Given the description of an element on the screen output the (x, y) to click on. 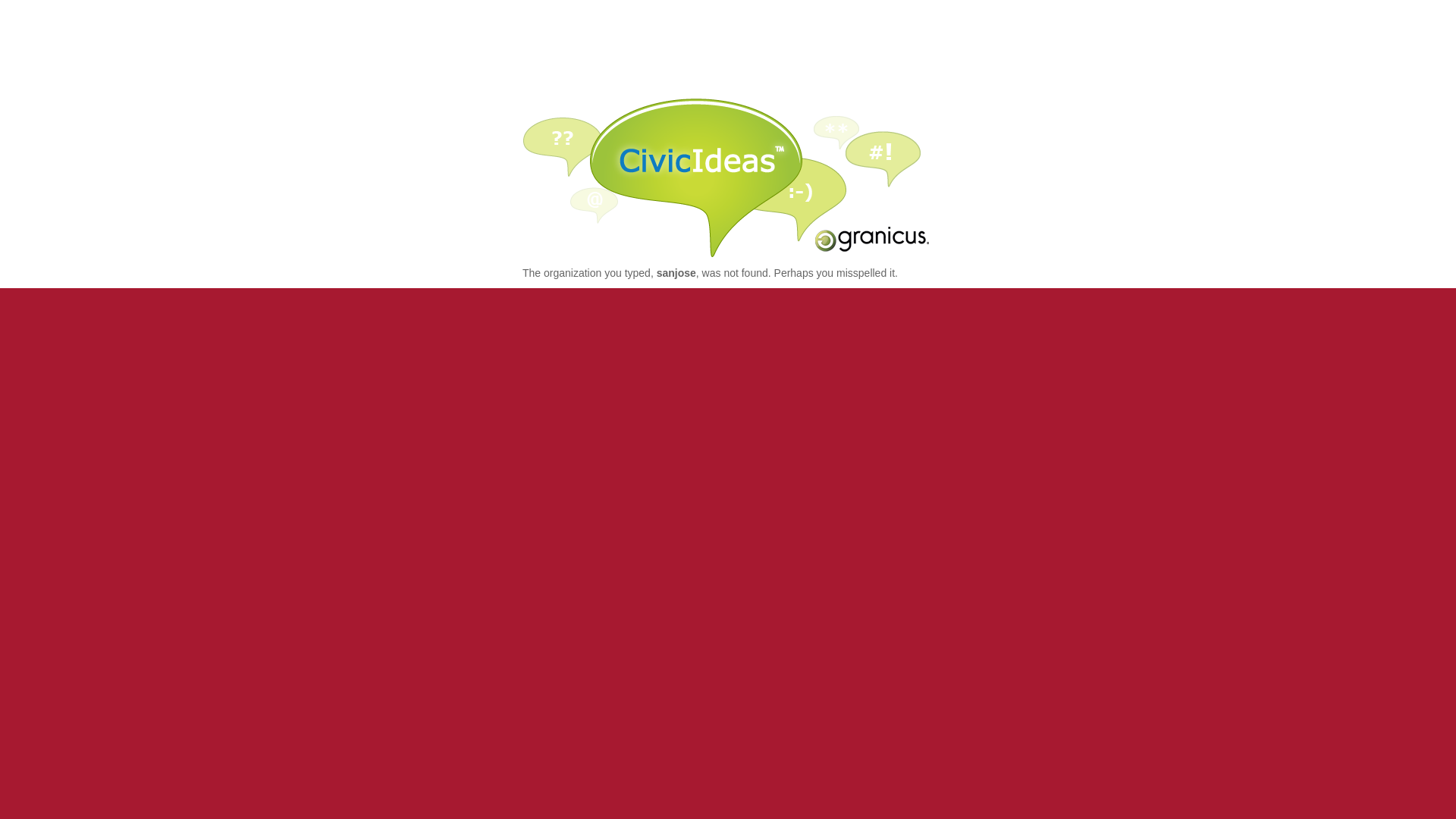
SpeakUp (727, 177)
